Given the description of an element on the screen output the (x, y) to click on. 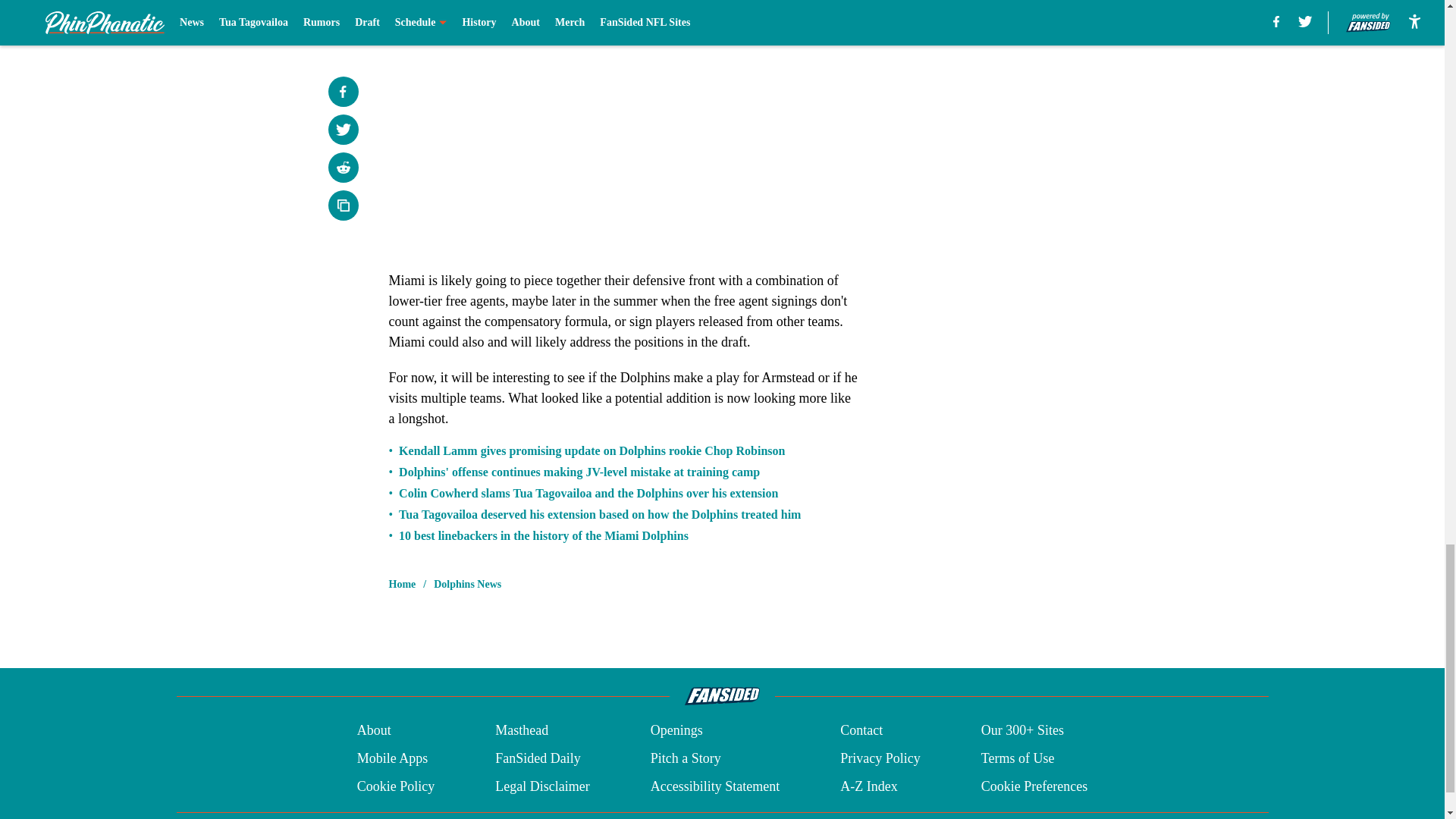
Home (401, 584)
Mobile Apps (392, 758)
FanSided Daily (537, 758)
Terms of Use (1017, 758)
Openings (676, 730)
Privacy Policy (880, 758)
10 best linebackers in the history of the Miami Dolphins (543, 535)
About (373, 730)
Pitch a Story (685, 758)
Cookie Policy (395, 786)
Dolphins News (466, 584)
